Given the description of an element on the screen output the (x, y) to click on. 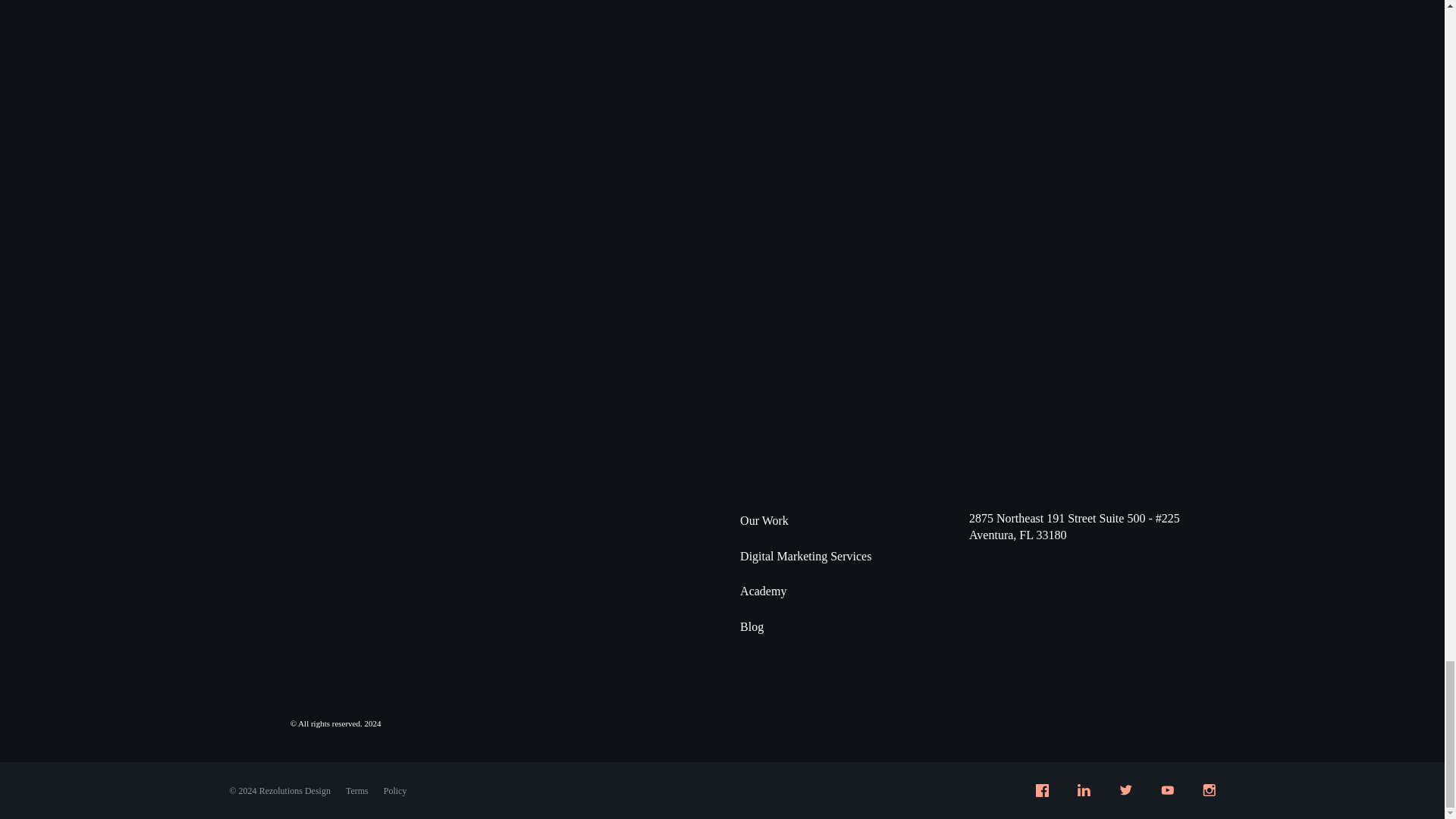
Academy (762, 590)
Terms (357, 790)
Rezolutions Design (294, 790)
Blog (750, 626)
Policy (395, 790)
Our Work (764, 520)
Digital Marketing Services (804, 556)
